Given the description of an element on the screen output the (x, y) to click on. 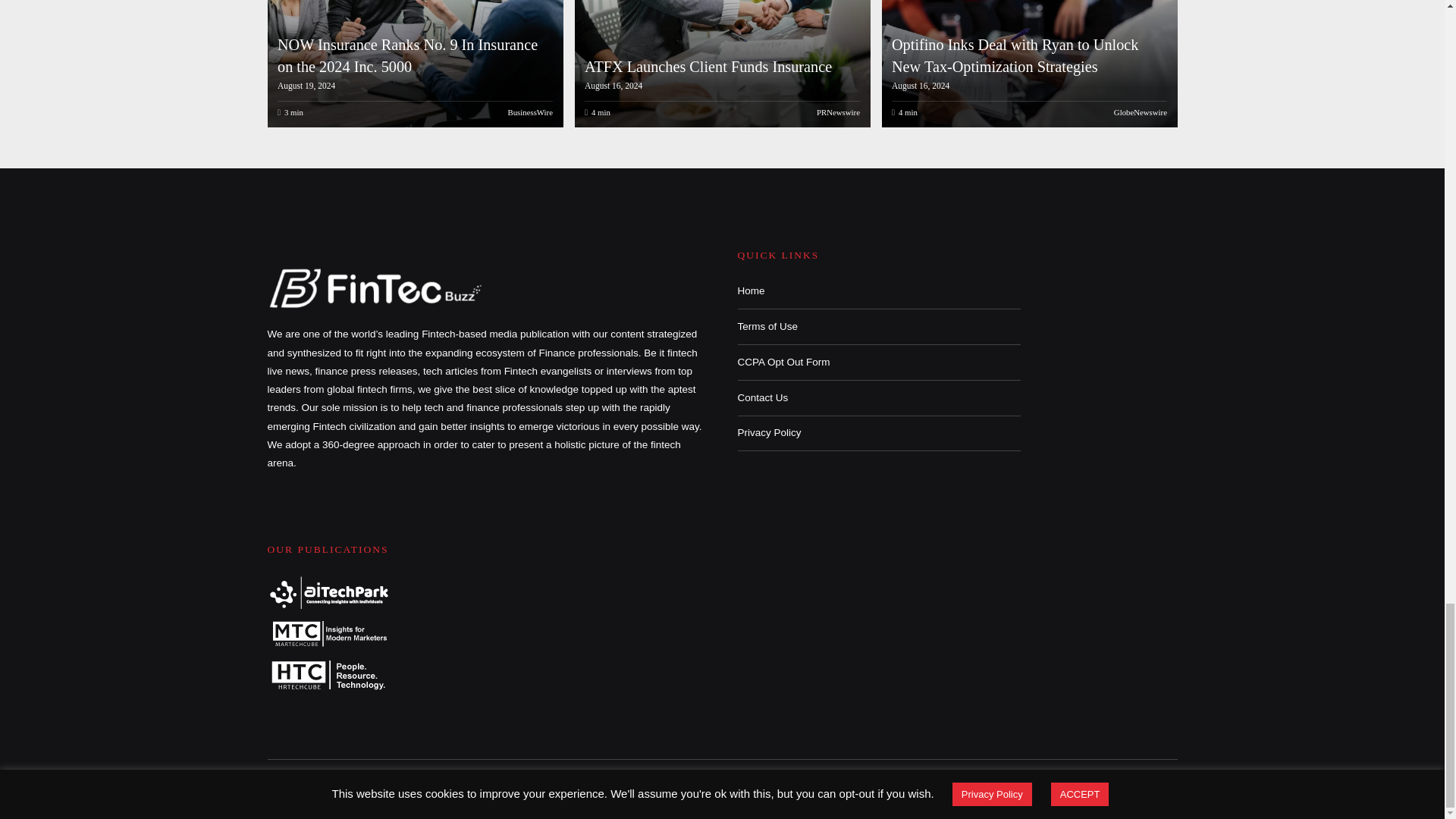
ATFX Launches Client Funds Insurance (708, 66)
newOriginal-white-FinTech1-1 (376, 287)
ATFX Launches Client Funds Insurance (719, 63)
NOW Insurance Ranks No. 9 In Insurance on the 2024 Inc. 5000 (407, 55)
NOW Insurance Ranks No. 9 In Insurance on the 2024 Inc. 5000 (412, 63)
